Given the description of an element on the screen output the (x, y) to click on. 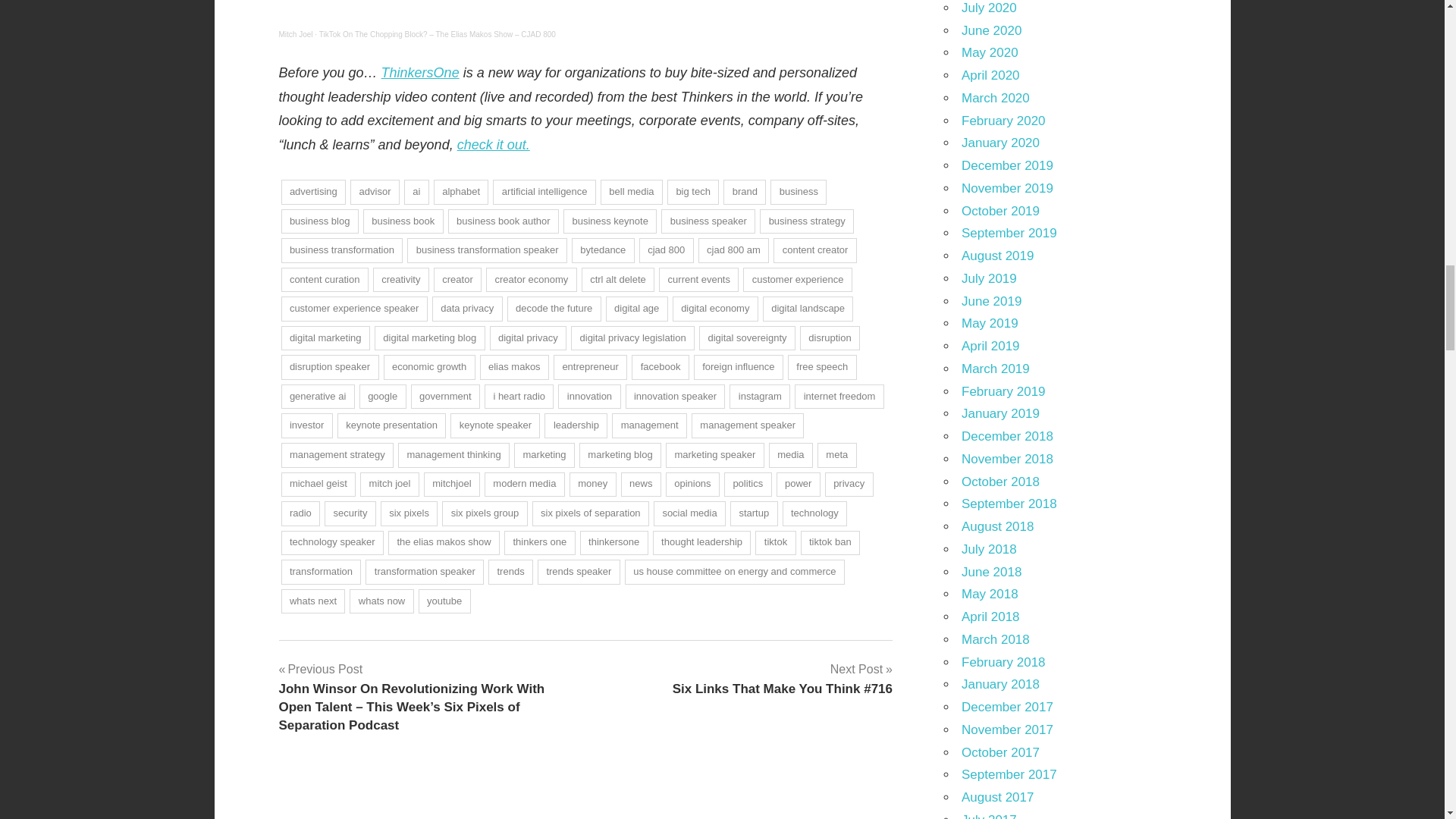
alphabet (461, 191)
Mitch Joel (296, 34)
ai (416, 191)
ThinkersOne (420, 72)
brand (744, 191)
big tech (692, 191)
artificial intelligence (544, 191)
check it out. (493, 144)
Mitch Joel (296, 34)
